Given the description of an element on the screen output the (x, y) to click on. 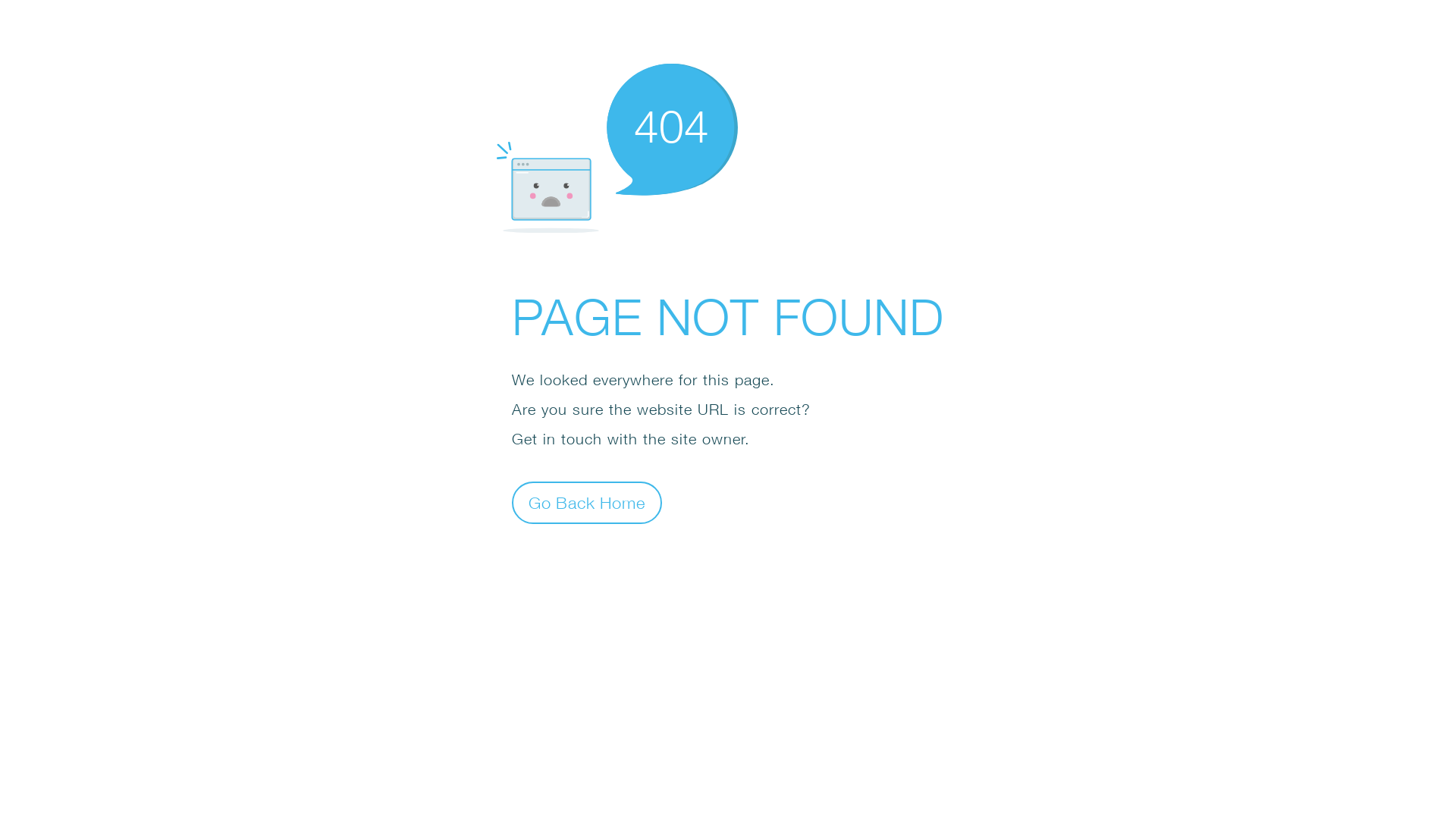
Go Back Home Element type: text (586, 502)
